Given the description of an element on the screen output the (x, y) to click on. 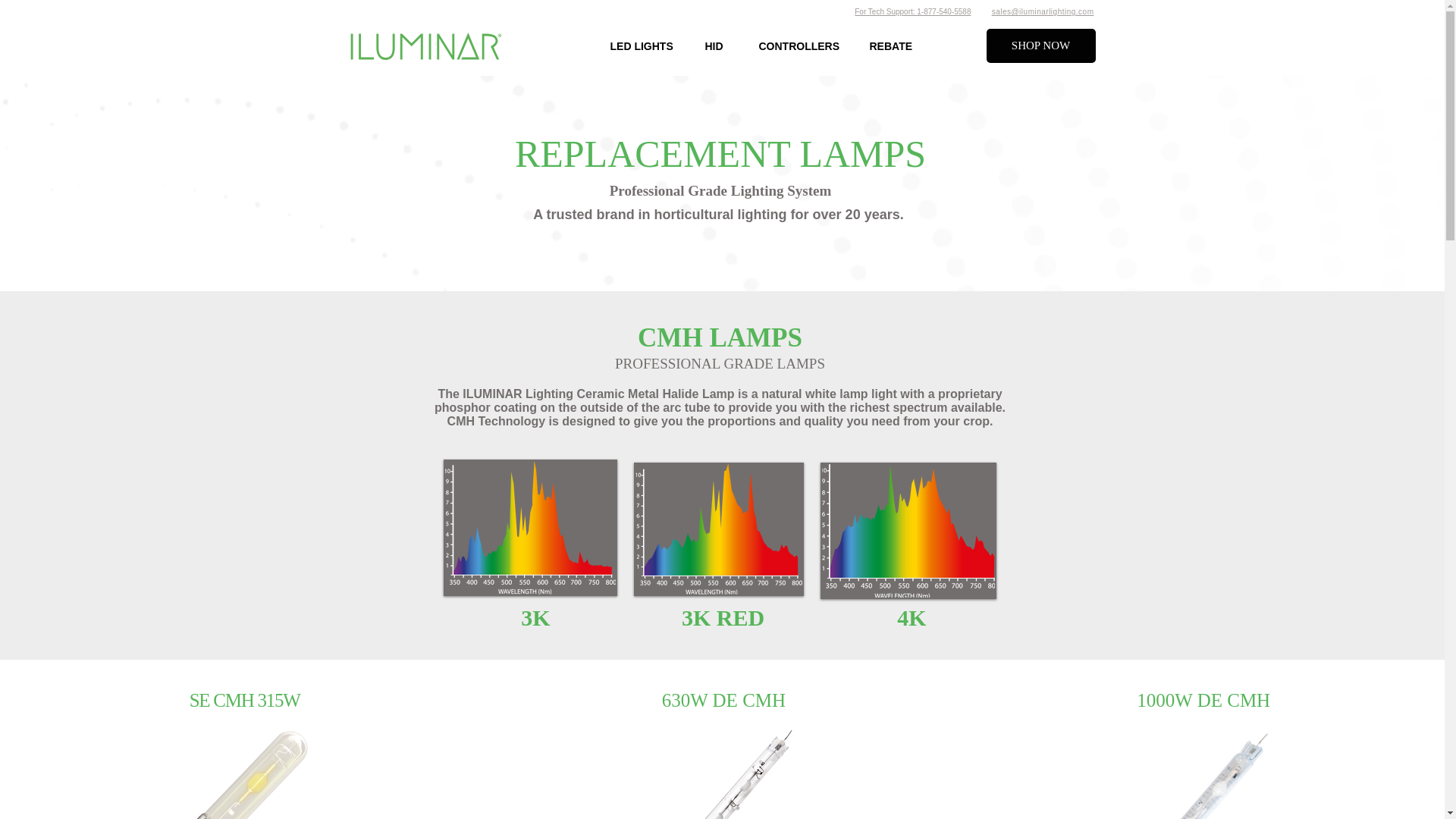
For Tech Support: 1-877-540-5588 (912, 11)
SE CMH 315W (244, 700)
REBATE (895, 46)
SHOP NOW (1039, 45)
LED LIGHTS (645, 46)
